Given the description of an element on the screen output the (x, y) to click on. 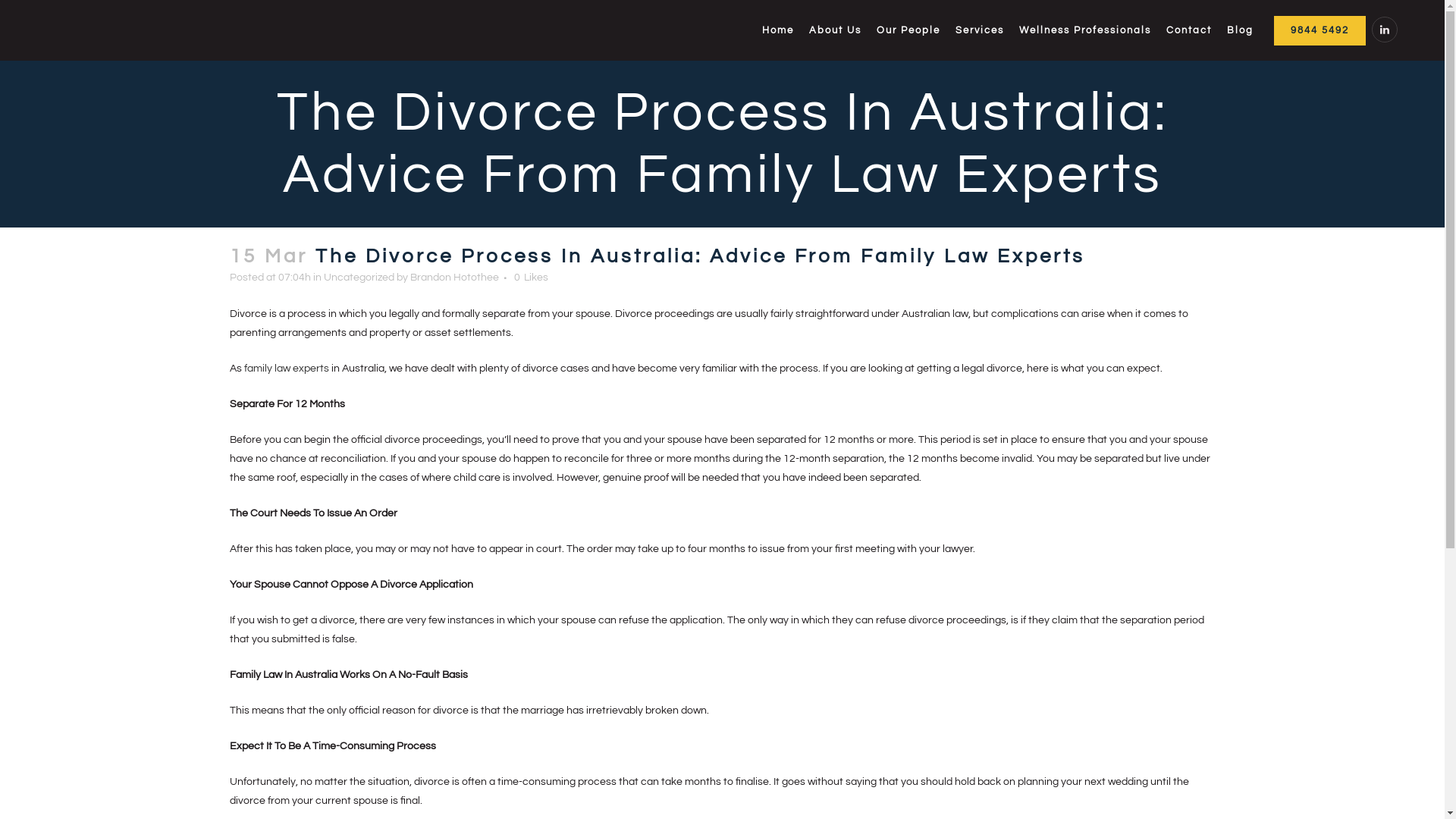
Wellness Professionals Element type: text (1084, 30)
Home Element type: text (777, 30)
9844 5492 Element type: text (1319, 29)
Brandon Hotothee Element type: text (453, 277)
Contact Element type: text (1188, 30)
Uncategorized Element type: text (358, 277)
Blog Element type: text (1240, 30)
Services Element type: text (979, 30)
0 Likes Element type: text (531, 277)
family law experts Element type: text (286, 368)
About Us Element type: text (835, 30)
Our People Element type: text (908, 30)
